Given the description of an element on the screen output the (x, y) to click on. 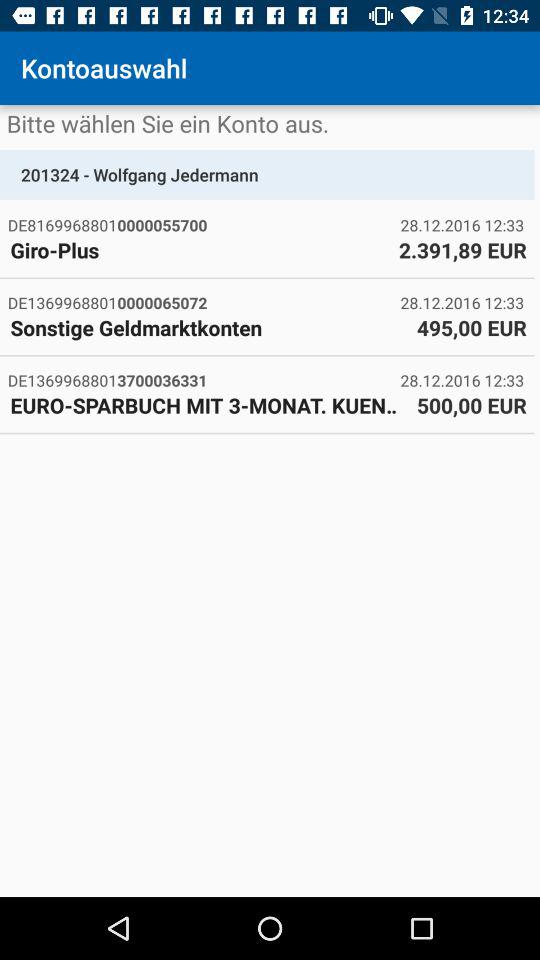
jump to the 201324 - wolfgang jedermann (267, 174)
